Given the description of an element on the screen output the (x, y) to click on. 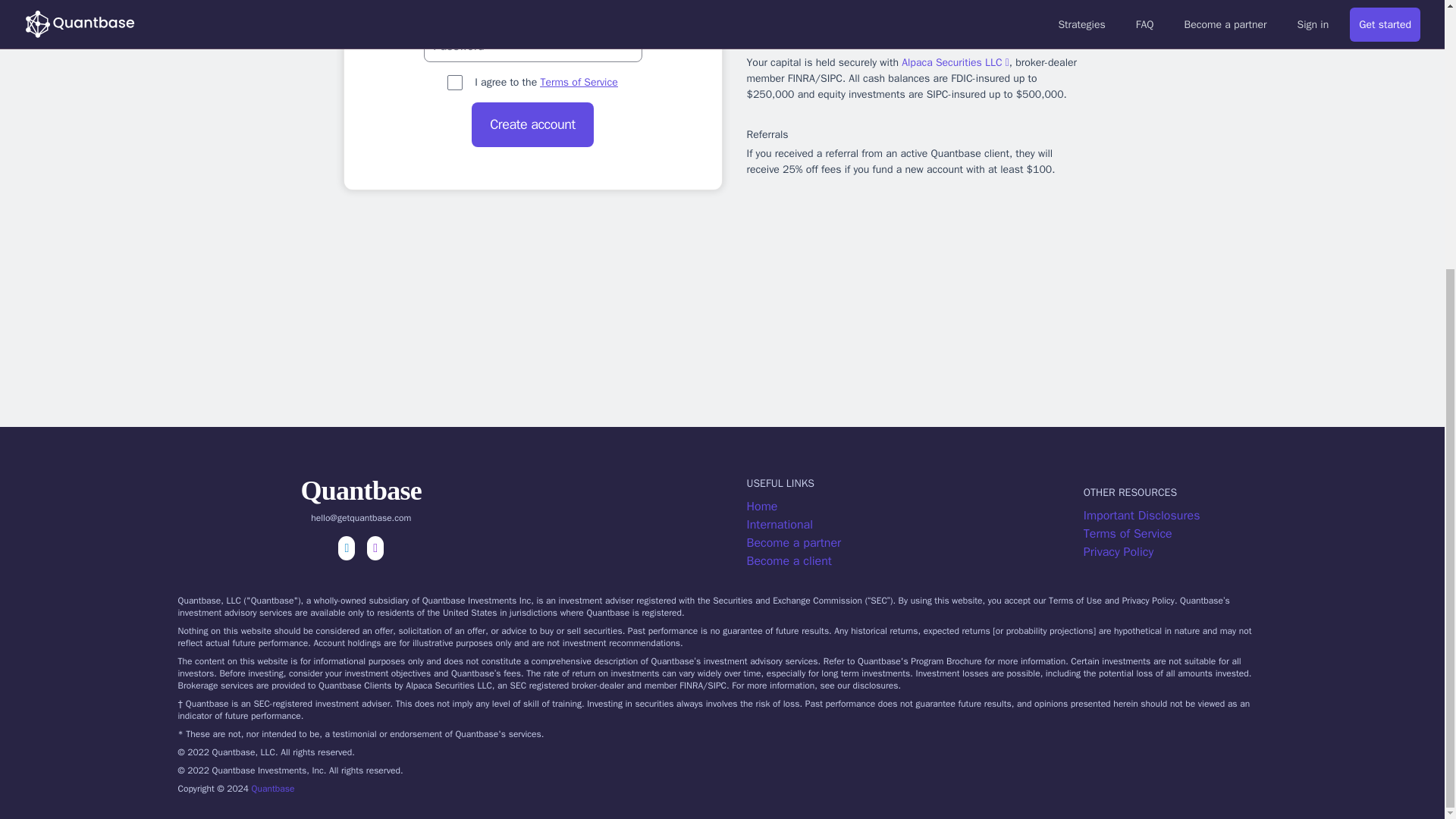
Create account (532, 124)
Important Disclosures (1252, 515)
Become a partner (914, 542)
Terms of Service (1252, 533)
Privacy Policy (1252, 551)
Alpaca Securities LLC (955, 62)
Home (914, 506)
Become a client (914, 561)
false (454, 82)
Terms of Service (578, 82)
International (914, 524)
Quantbase (273, 788)
